Given the description of an element on the screen output the (x, y) to click on. 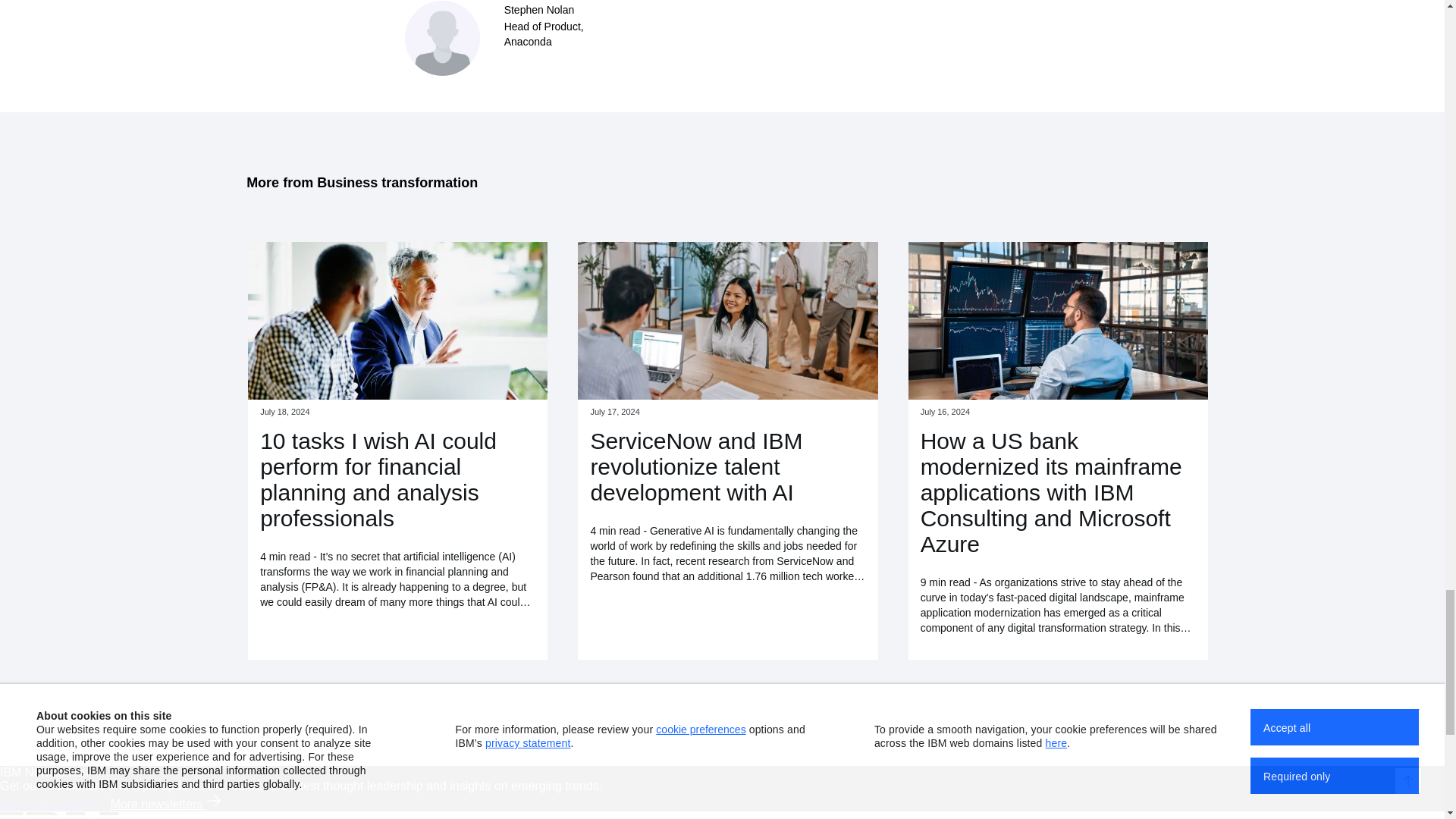
Stephen Nolan (539, 9)
